Given the description of an element on the screen output the (x, y) to click on. 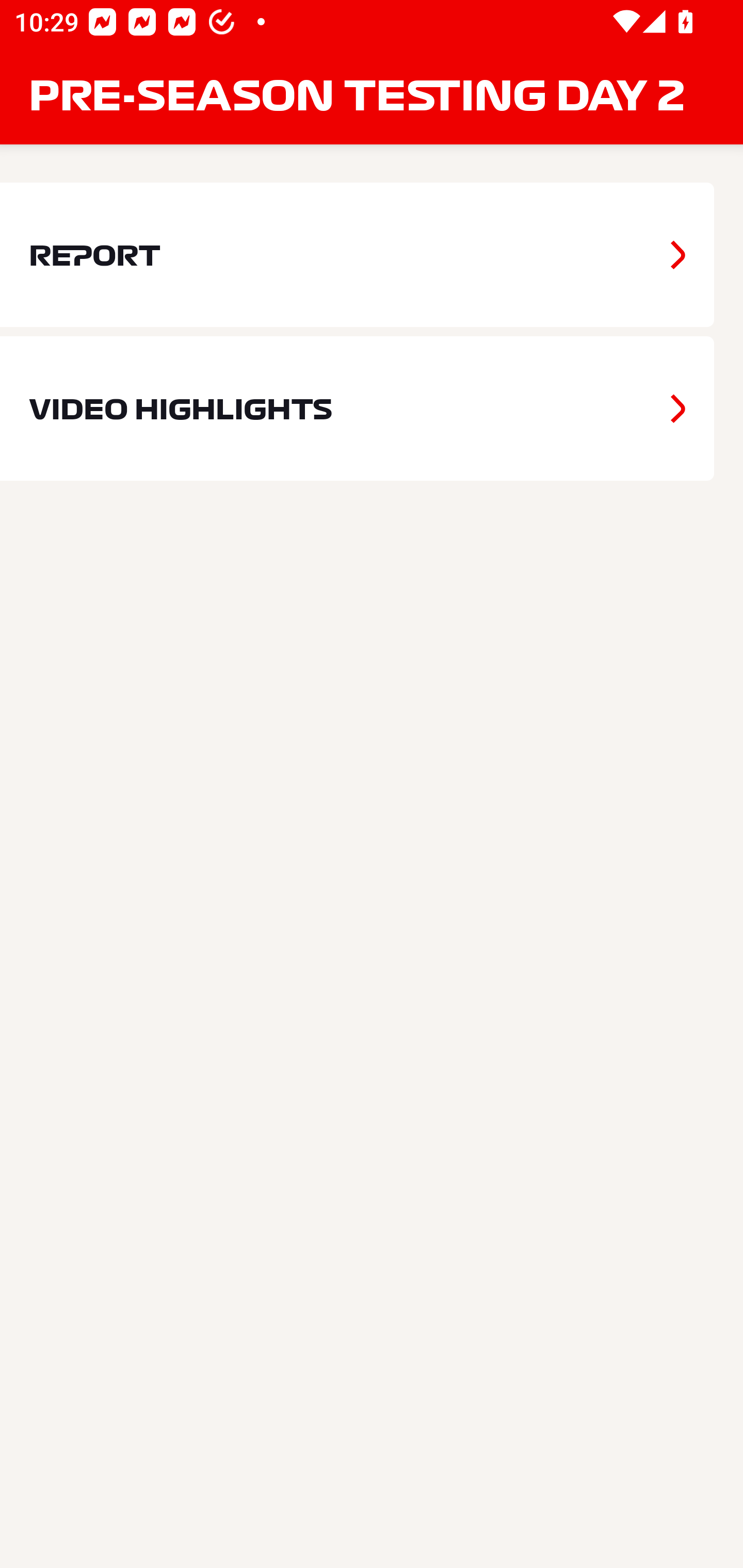
REPORT (357, 254)
VIDEO HIGHLIGHTS (357, 408)
